Given the description of an element on the screen output the (x, y) to click on. 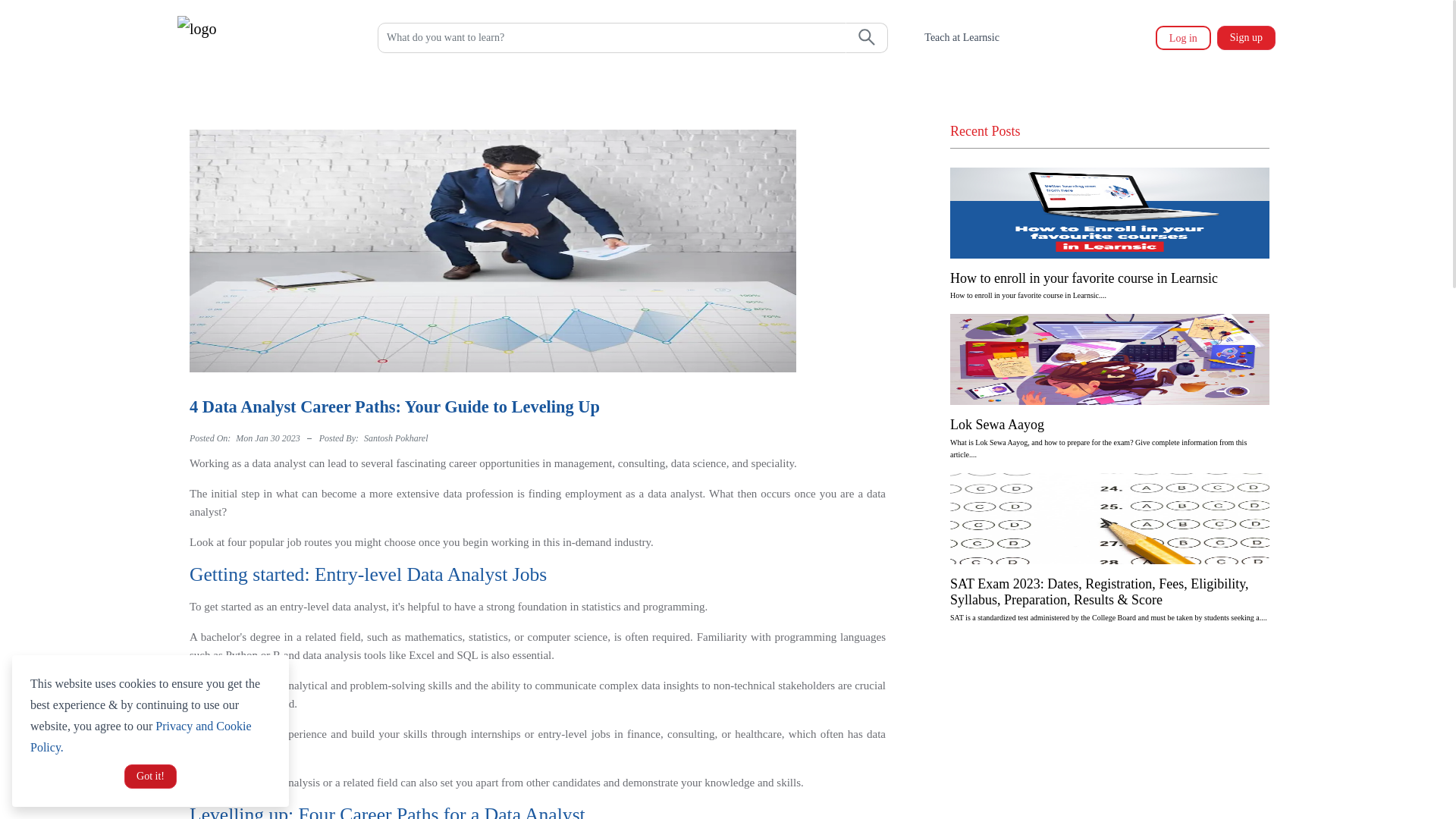
Privacy and Cookie Policy. (140, 736)
Log in (1183, 37)
Teach at Learnsic (961, 37)
Sign up (1243, 37)
Got it! (149, 776)
Sign up (1246, 37)
Search Courses (611, 37)
